Given the description of an element on the screen output the (x, y) to click on. 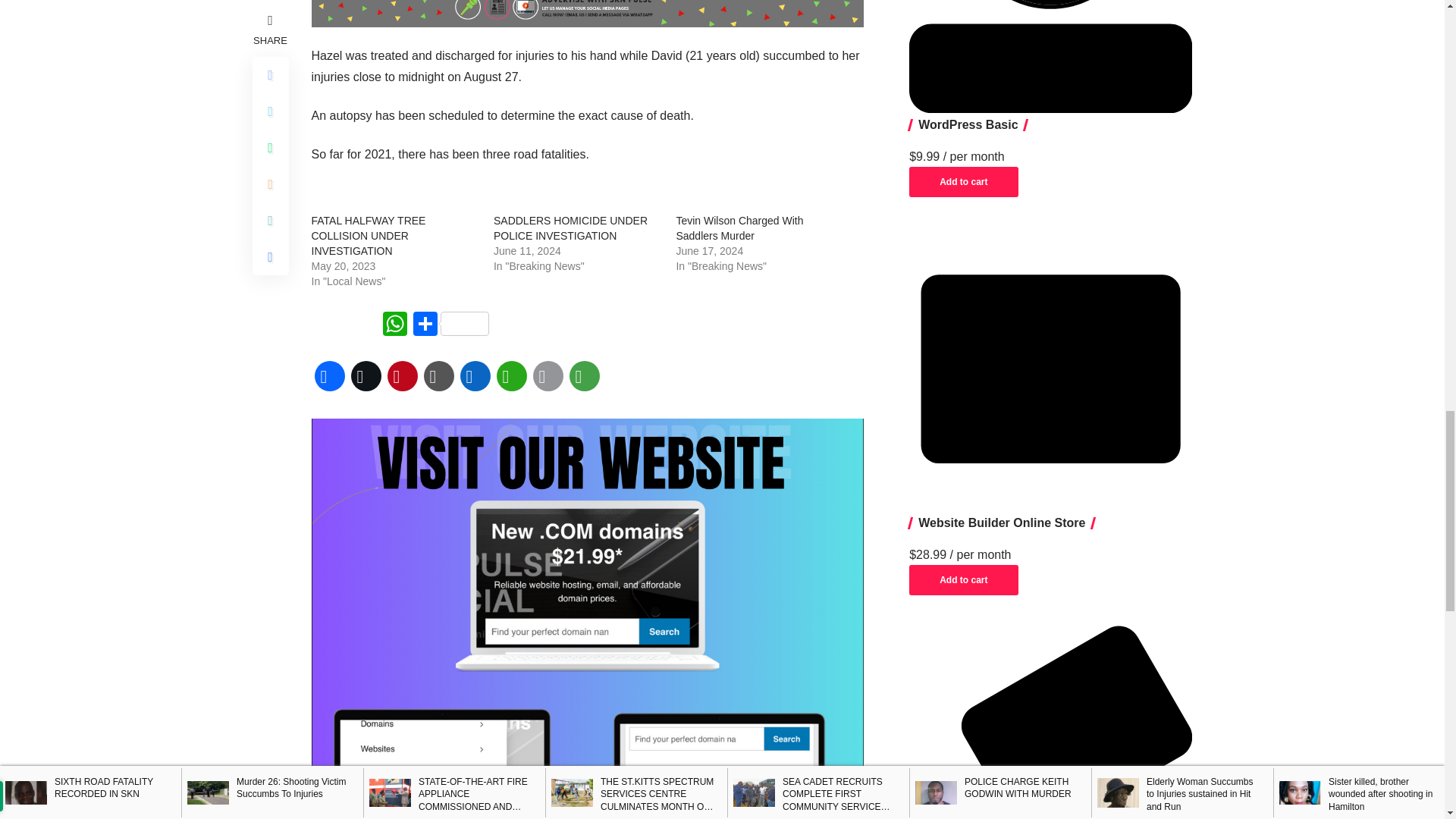
Website Builder (1050, 368)
Email This (547, 375)
WhatsApp (393, 325)
FATAL HALFWAY TREE COLLISION UNDER INVESTIGATION (368, 235)
WhatsApp (511, 375)
Copy Link (438, 375)
SADDLERS HOMICIDE UNDER POLICE INVESTIGATION (570, 227)
Facebook (329, 375)
Email Marketing (1050, 722)
Pinterest (402, 375)
WordPress (1050, 56)
LinkedIn (475, 375)
Tevin Wilson Charged With Saddlers Murder (739, 227)
